Given the description of an element on the screen output the (x, y) to click on. 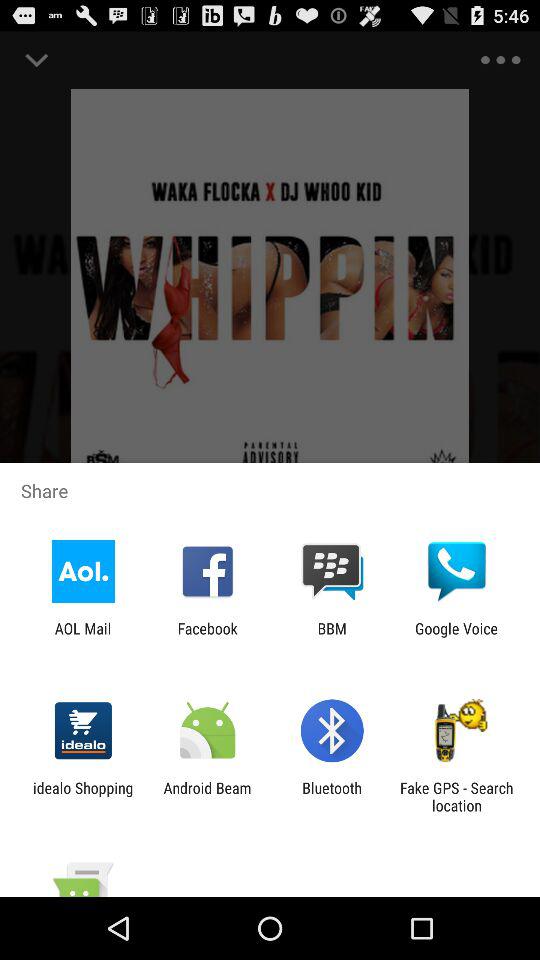
swipe to bluetooth (331, 796)
